Given the description of an element on the screen output the (x, y) to click on. 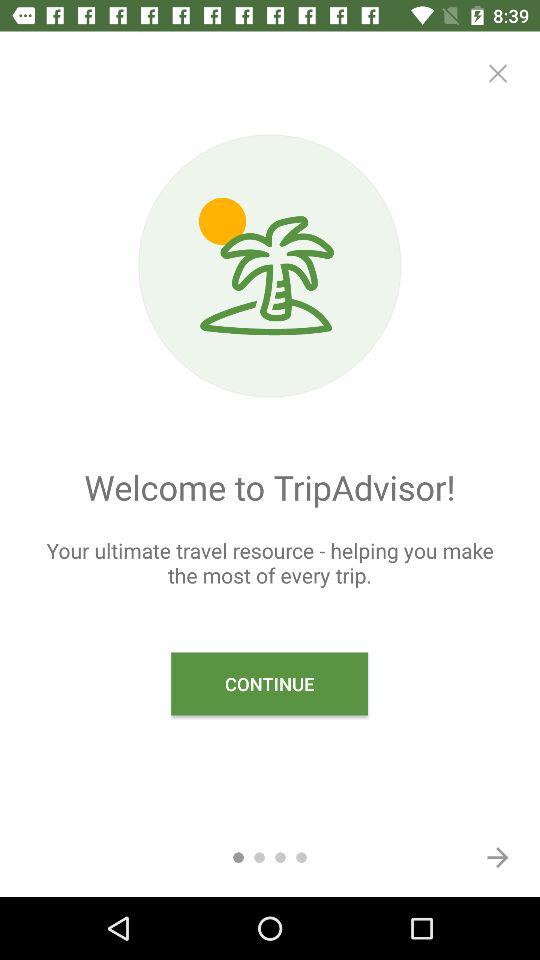
press the item below the your ultimate travel item (498, 857)
